Given the description of an element on the screen output the (x, y) to click on. 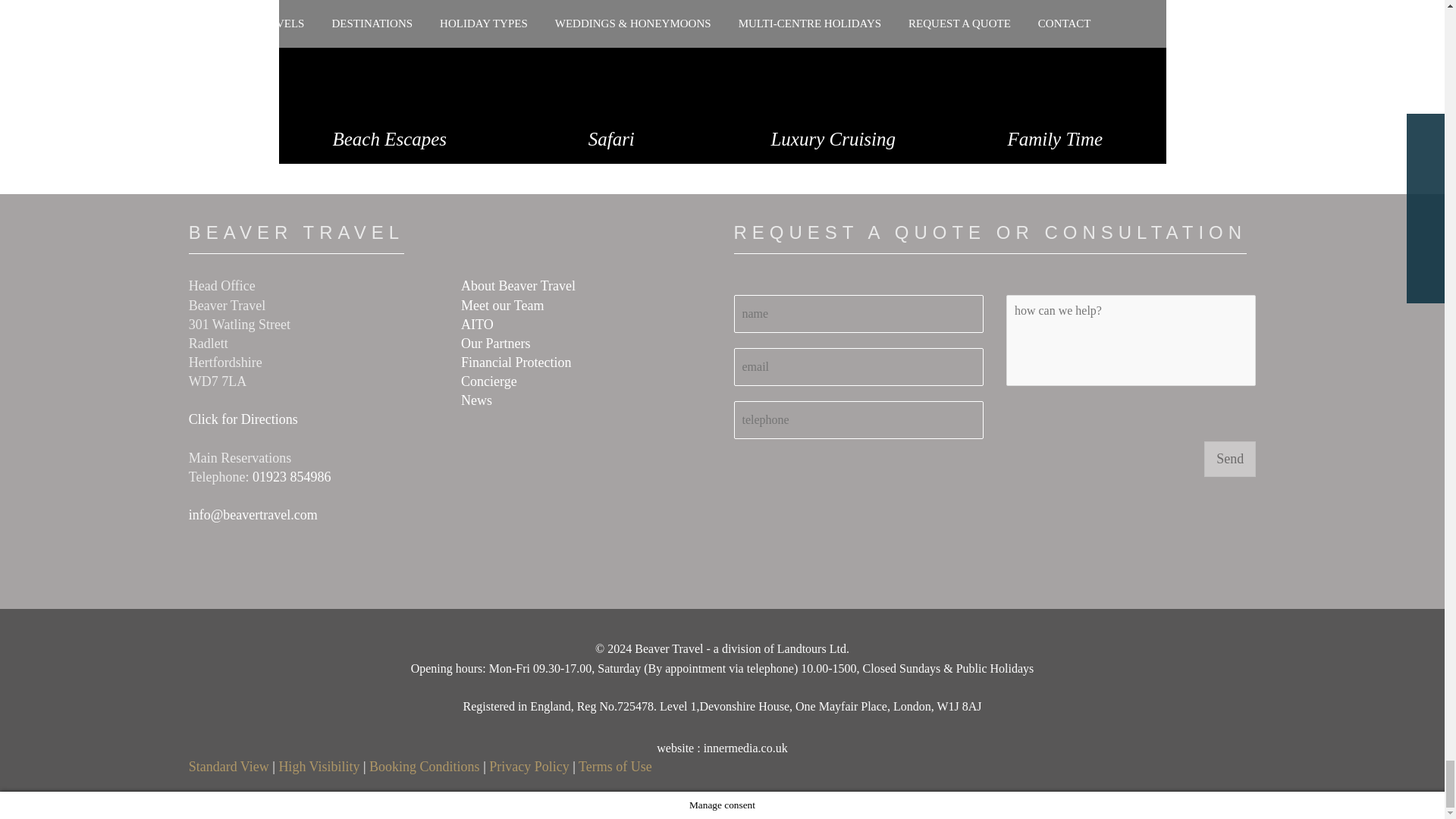
Switch to High Visibility (318, 766)
Switch to Standard Visibility (229, 766)
